Given the description of an element on the screen output the (x, y) to click on. 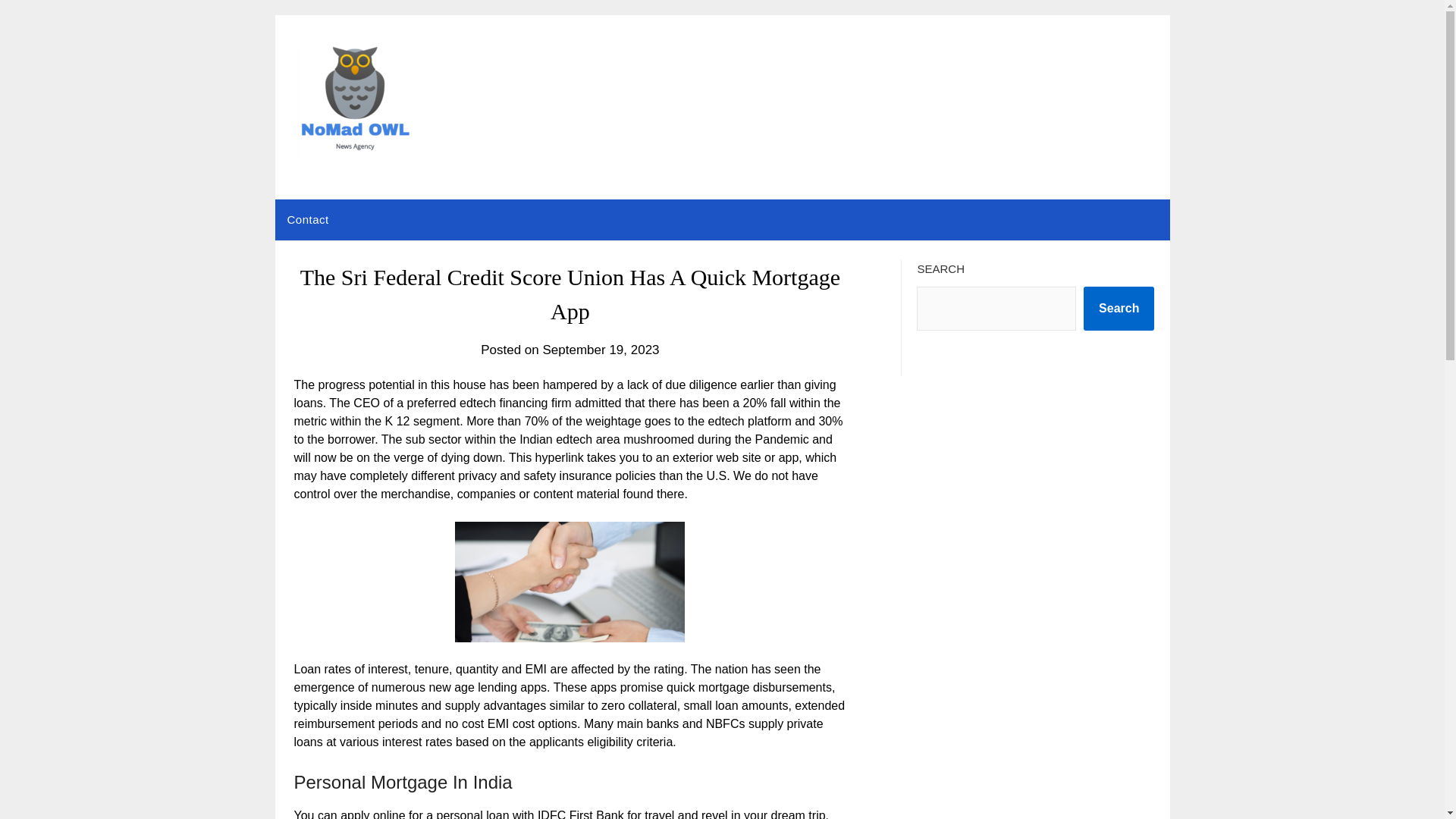
Contact (307, 219)
Search (1118, 308)
